Given the description of an element on the screen output the (x, y) to click on. 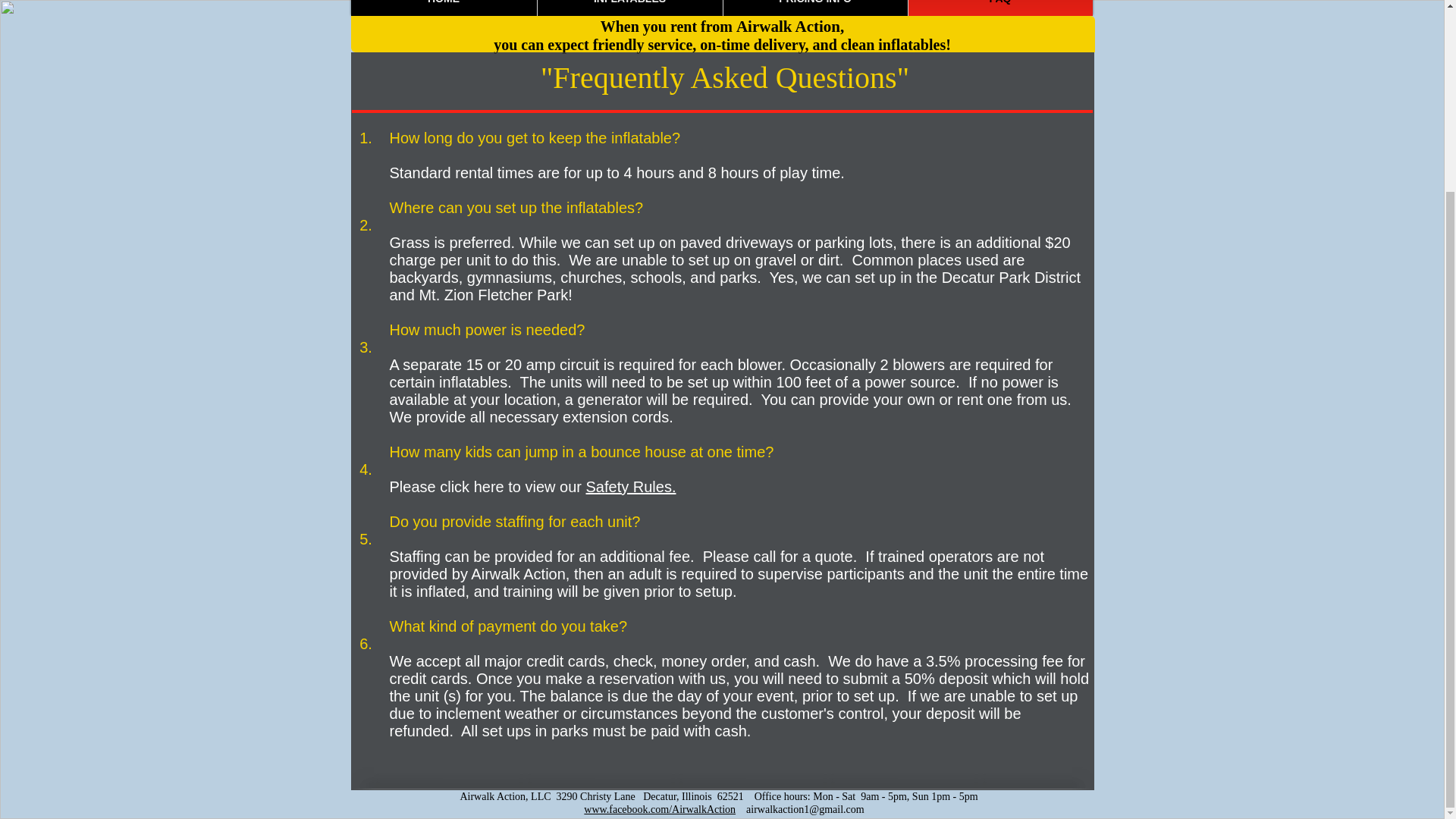
PRICING INFO (815, 7)
FAQ (1000, 7)
HOME (442, 7)
Safety Rules. (631, 486)
